Given the description of an element on the screen output the (x, y) to click on. 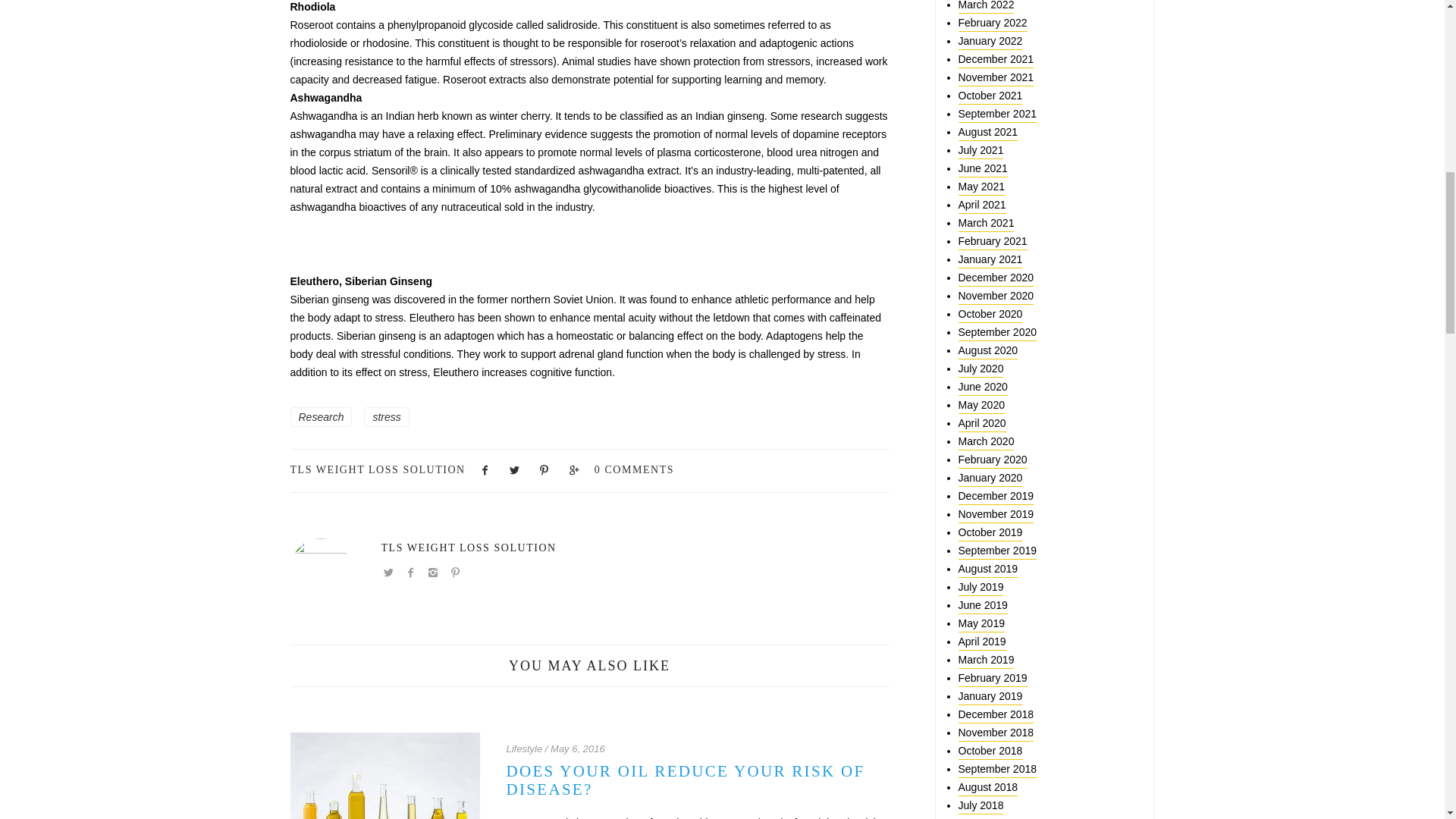
May 6, 2016 (577, 748)
0 COMMENTS (634, 468)
DOES YOUR OIL REDUCE YOUR RISK OF DISEASE? (685, 780)
TLS WEIGHT LOSS SOLUTION (376, 468)
TLS WEIGHT LOSS SOLUTION (468, 547)
View all posts in Lifestyle (524, 748)
Pin this (545, 468)
Lifestyle (524, 748)
Tweet this (514, 468)
stress (386, 416)
